Given the description of an element on the screen output the (x, y) to click on. 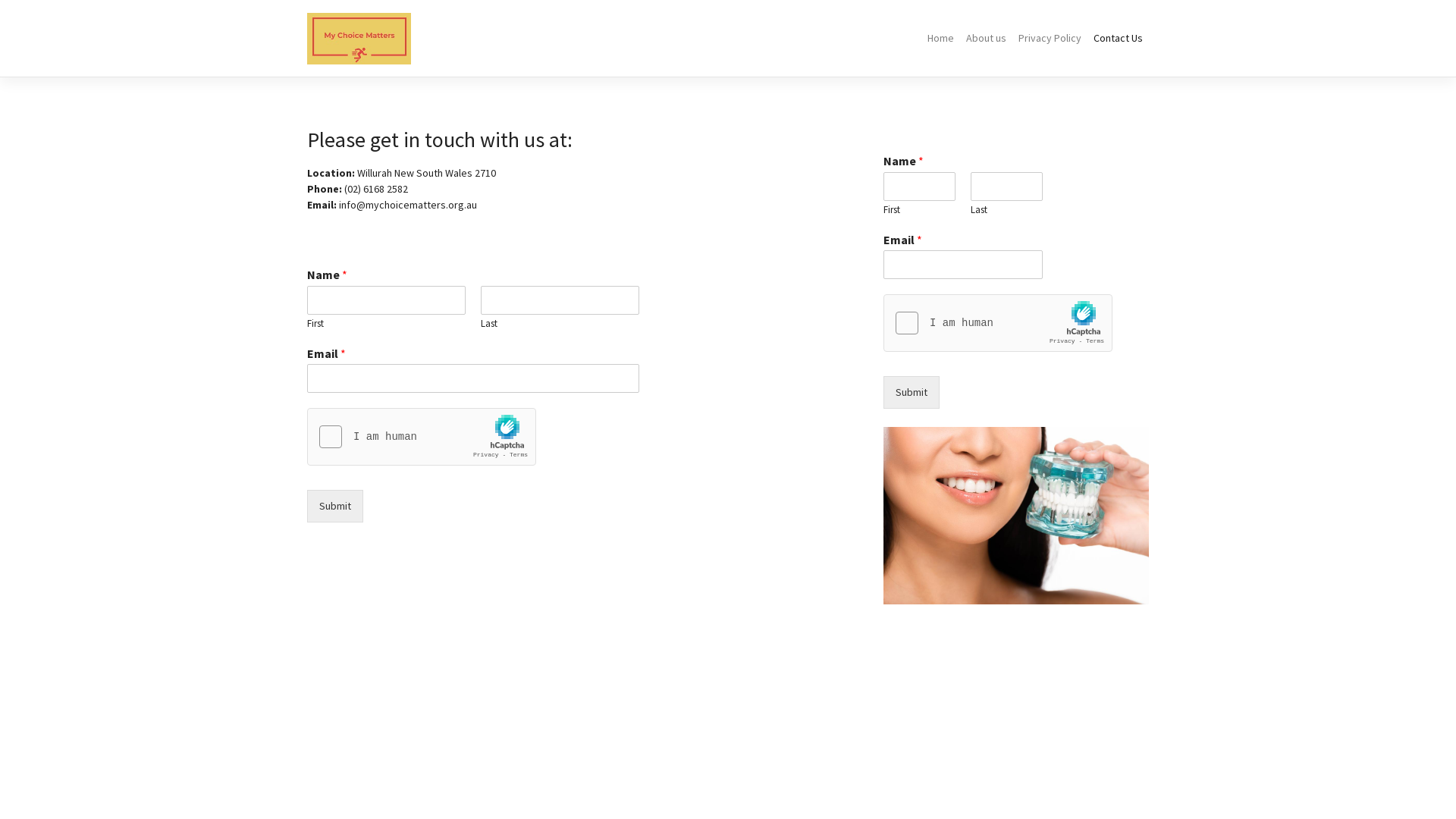
Submit Element type: text (335, 505)
Contact Us Element type: text (1117, 38)
Widget containing checkbox for hCaptcha security challenge Element type: hover (421, 437)
Widget containing checkbox for hCaptcha security challenge Element type: hover (998, 323)
Submit Element type: text (911, 392)
About us Element type: text (986, 38)
Privacy Policy Element type: text (1049, 38)
Home Element type: text (940, 38)
